Given the description of an element on the screen output the (x, y) to click on. 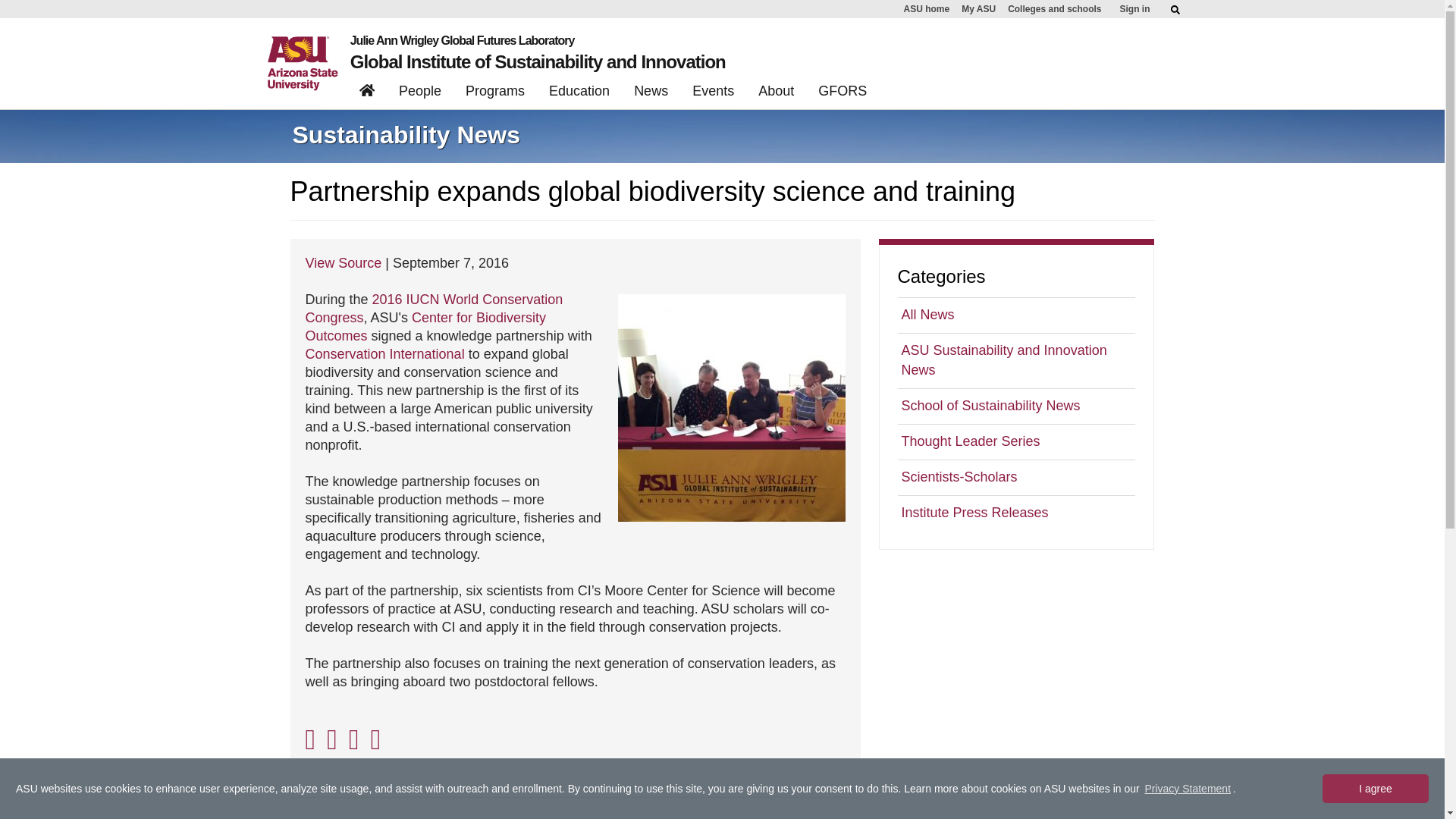
Global Institute of Sustainability and Innovation (537, 61)
School of Sustainability News (1016, 406)
ASU Sustainability and Innovation News (1016, 360)
News (650, 93)
Julie Ann Wrigley Global Futures Laboratory (537, 40)
Events (712, 93)
About (776, 93)
View Source (342, 263)
Scientists-Scholars (1016, 477)
Sign in (1134, 9)
Home (367, 92)
Programs (495, 93)
I agree (1375, 788)
My ASU (978, 9)
GFORS (842, 93)
